Given the description of an element on the screen output the (x, y) to click on. 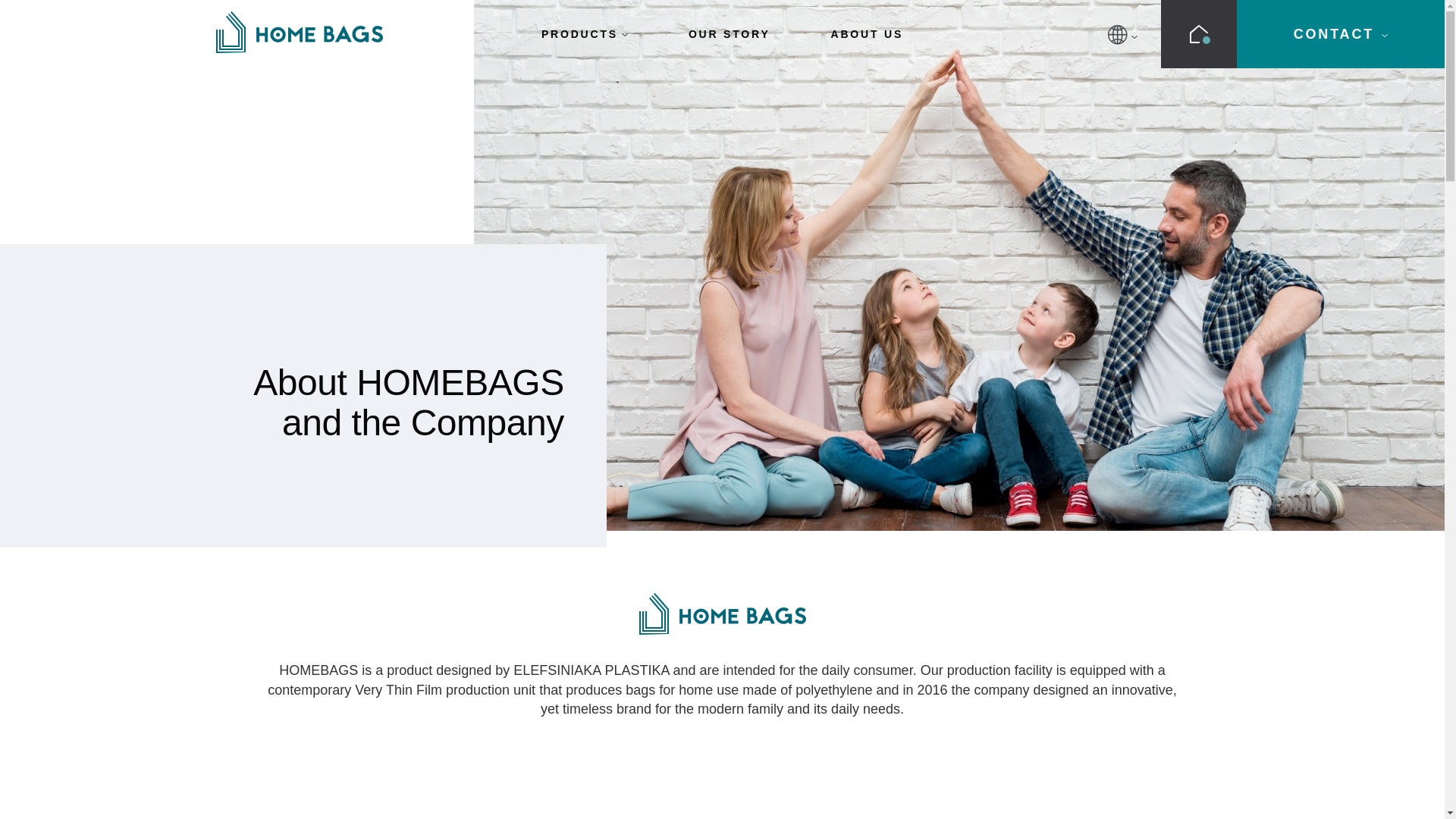
Homebags High-Tech Plastic Bags (298, 32)
PRODUCTS (584, 33)
ABOUT US (867, 33)
OUR STORY (729, 33)
